Given the description of an element on the screen output the (x, y) to click on. 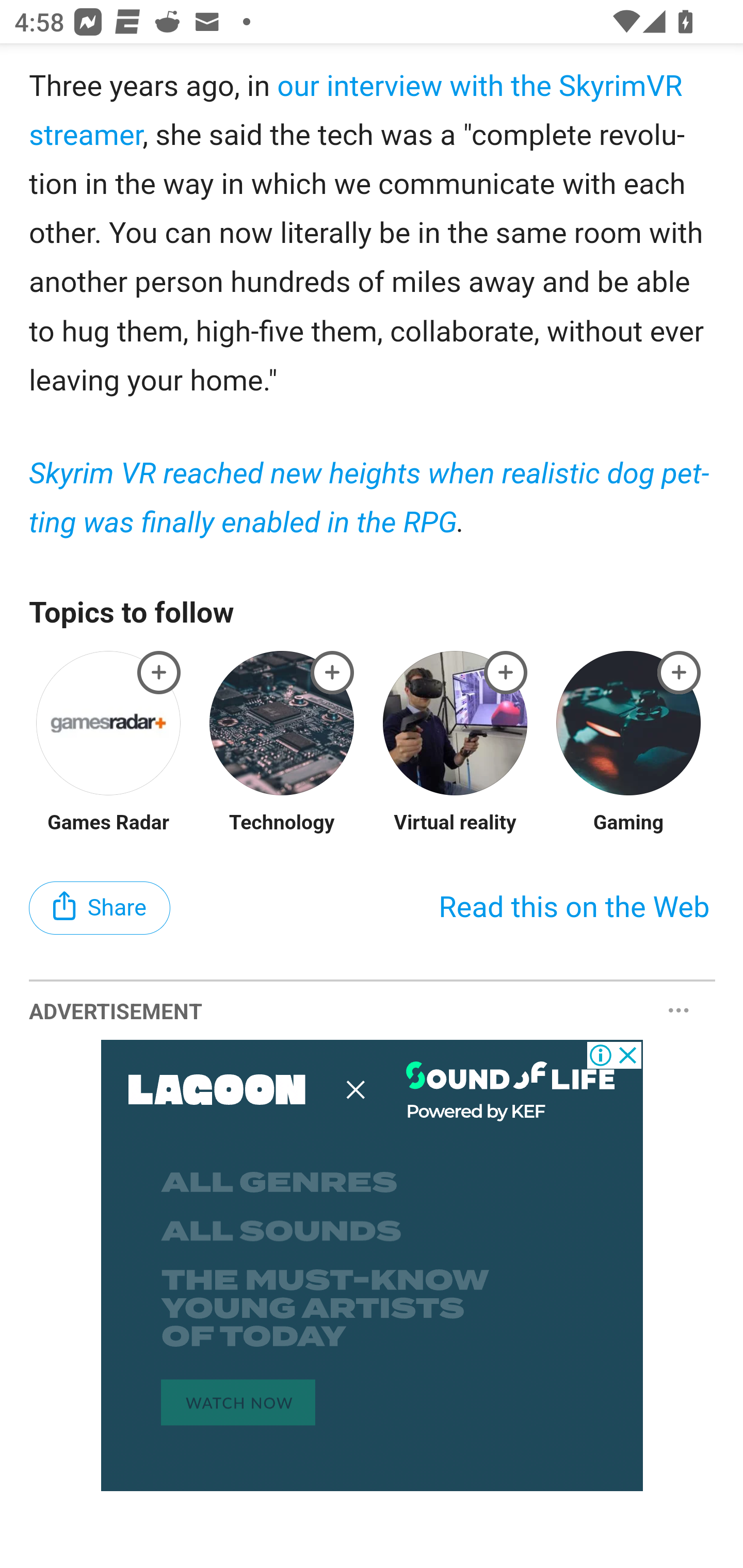
our interview with the SkyrimVR streamer (356, 110)
Games Radar (108, 823)
Technology (281, 823)
Virtual reality (454, 823)
Gaming (628, 823)
Read this on the Web (573, 909)
Share (99, 908)
